Given the description of an element on the screen output the (x, y) to click on. 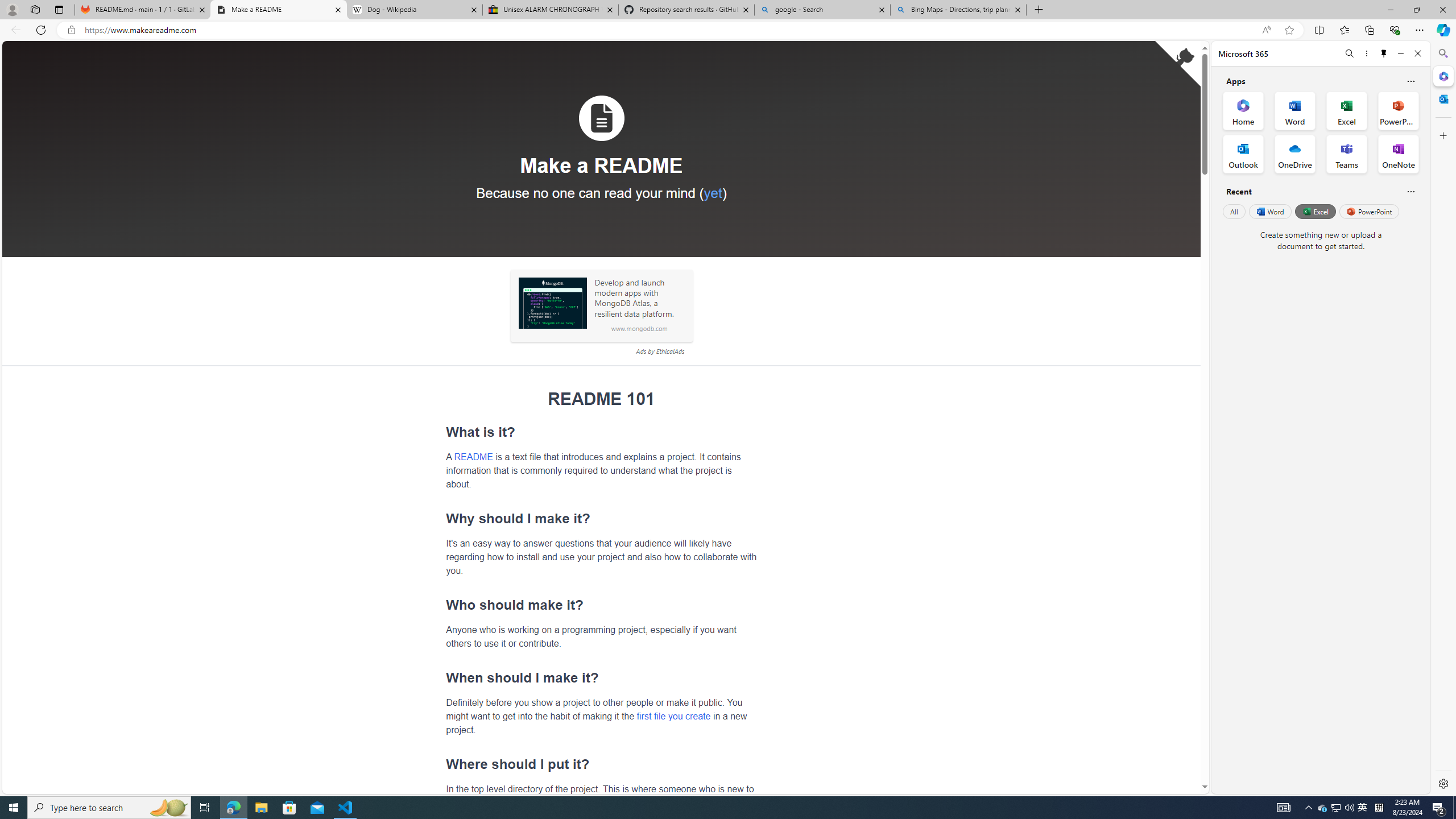
Home Office App (1243, 110)
Excel (1315, 210)
Ads by EthicalAds (660, 351)
PowerPoint Office App (1398, 110)
Is this helpful? (1410, 191)
Outlook Office App (1243, 154)
Open GitHub project (1177, 63)
All (1233, 210)
